Given the description of an element on the screen output the (x, y) to click on. 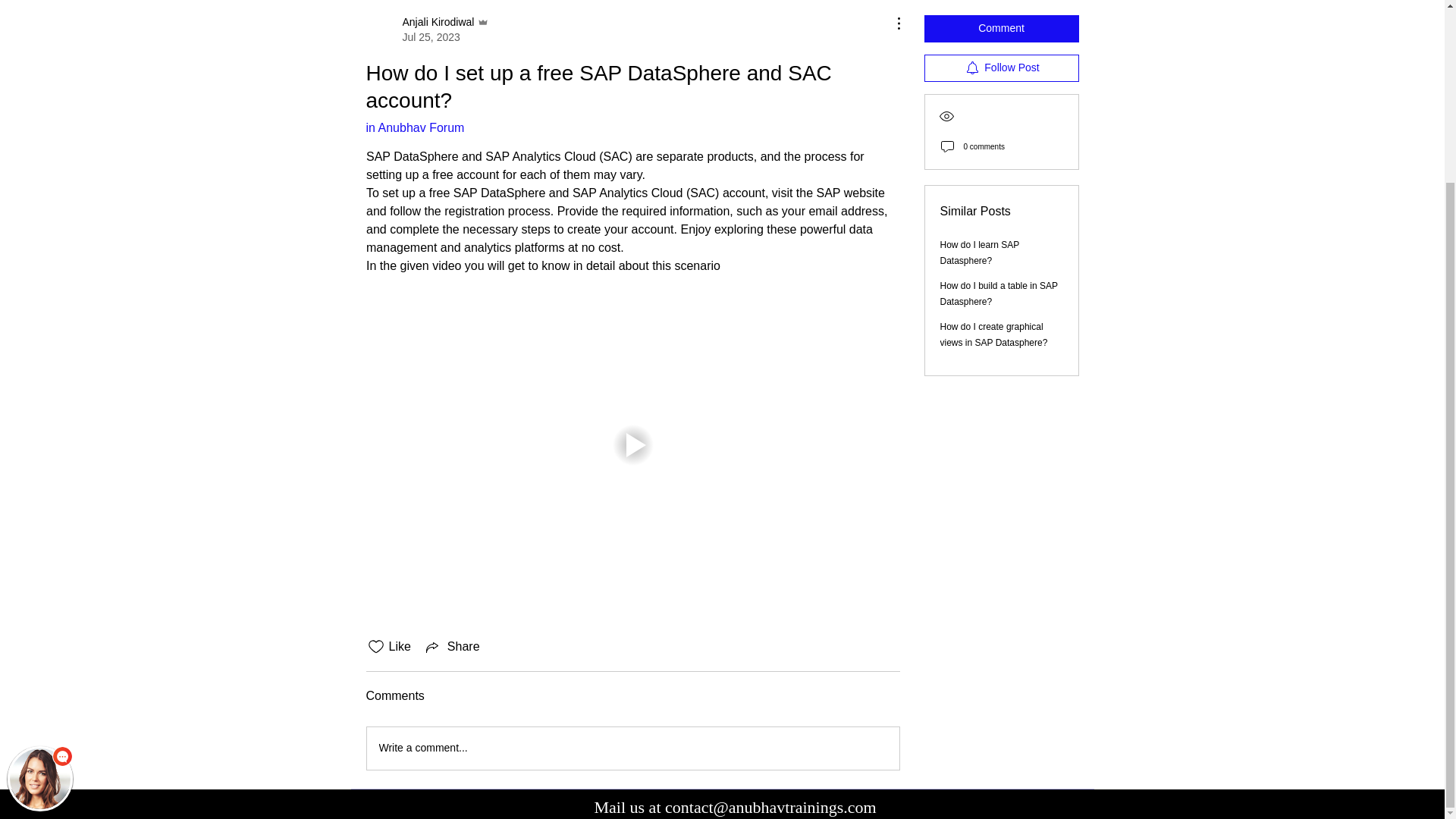
Write a comment... (632, 748)
Share (451, 647)
How do I create graphical views in SAP Datasphere? (994, 334)
in Anubhav Forum (414, 127)
Comment (1000, 27)
How do I build a table in SAP Datasphere? (999, 293)
How do I learn SAP Datasphere? (427, 29)
Follow Post (980, 252)
